Given the description of an element on the screen output the (x, y) to click on. 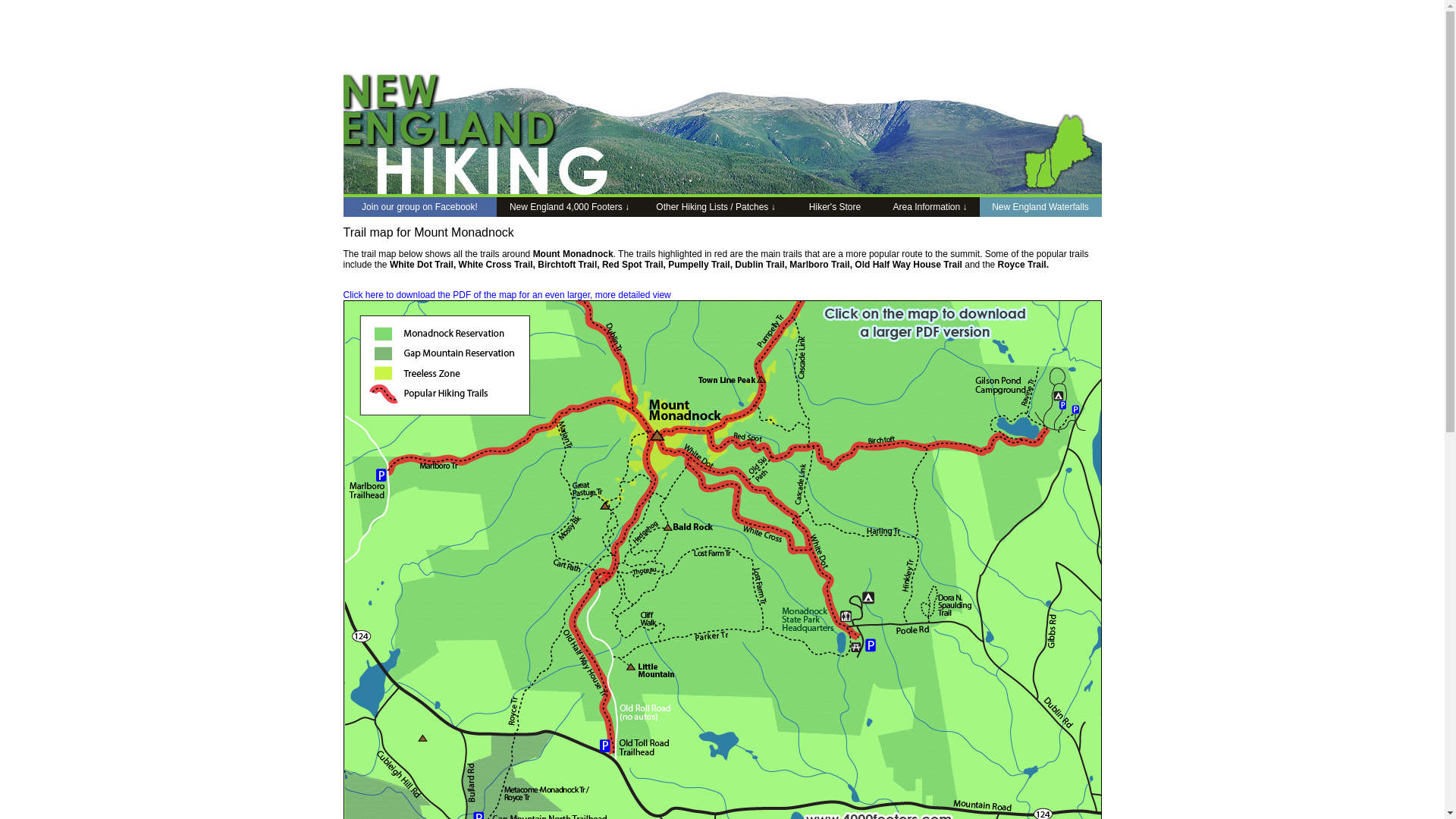
Hiker's Store Element type: text (834, 206)
Advertisement Element type: hover (763, 42)
Join our group on Facebook! Element type: text (418, 206)
New England Waterfalls Element type: text (1040, 206)
